Given the description of an element on the screen output the (x, y) to click on. 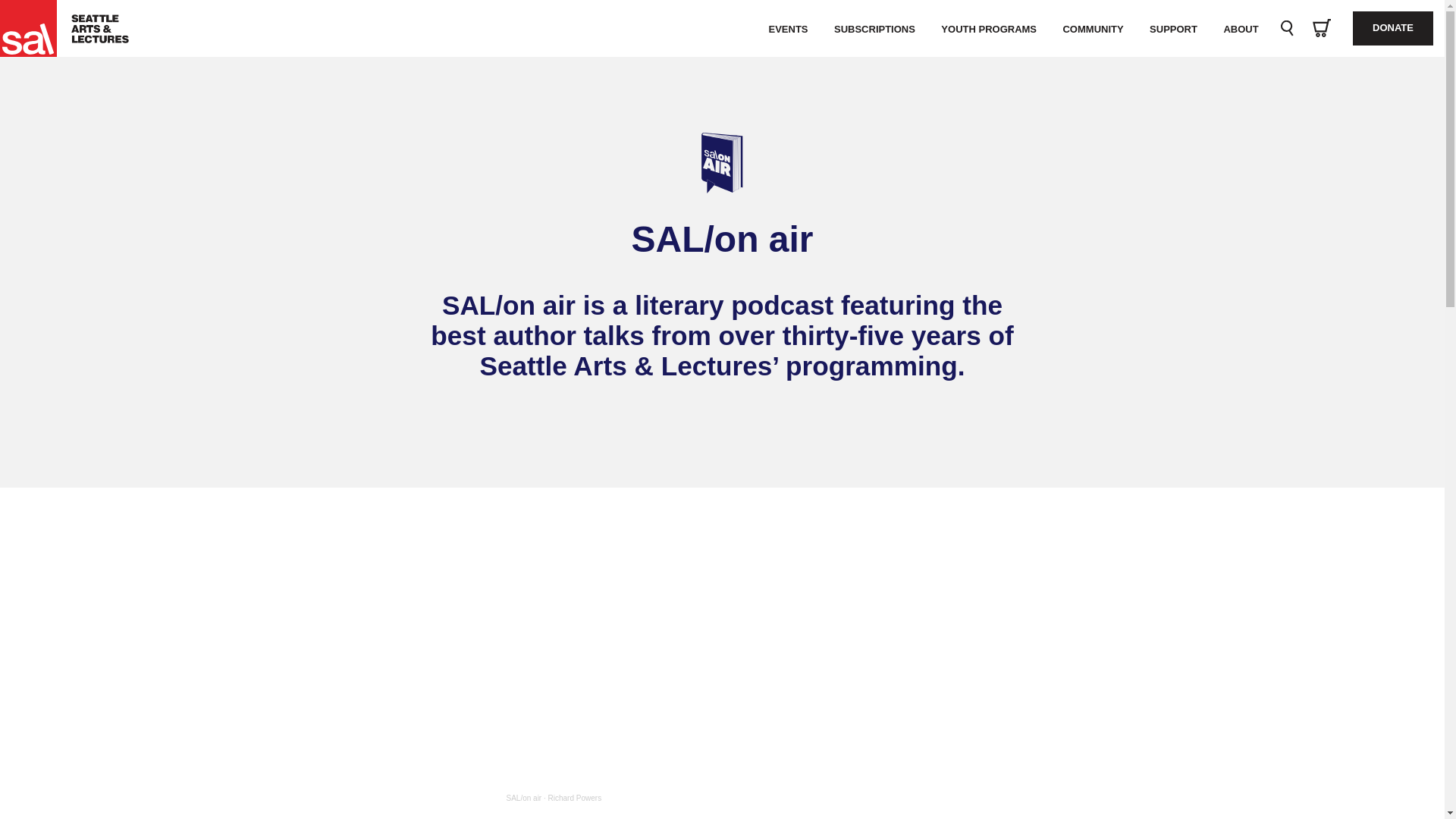
EVENTS (788, 28)
Richard Powers (575, 797)
YOUTH PROGRAMS (989, 28)
SUPPORT (1173, 28)
SEARCH ICON (1287, 28)
Richard Powers (575, 797)
ABOUT (1240, 28)
Seattle Arts and Lectures (35, 28)
CART ICON (1321, 27)
SEARCH ICON (1286, 28)
CART ICON (1321, 28)
SUBSCRIPTIONS (874, 28)
DONATE (1392, 28)
COMMUNITY (1092, 28)
